Given the description of an element on the screen output the (x, y) to click on. 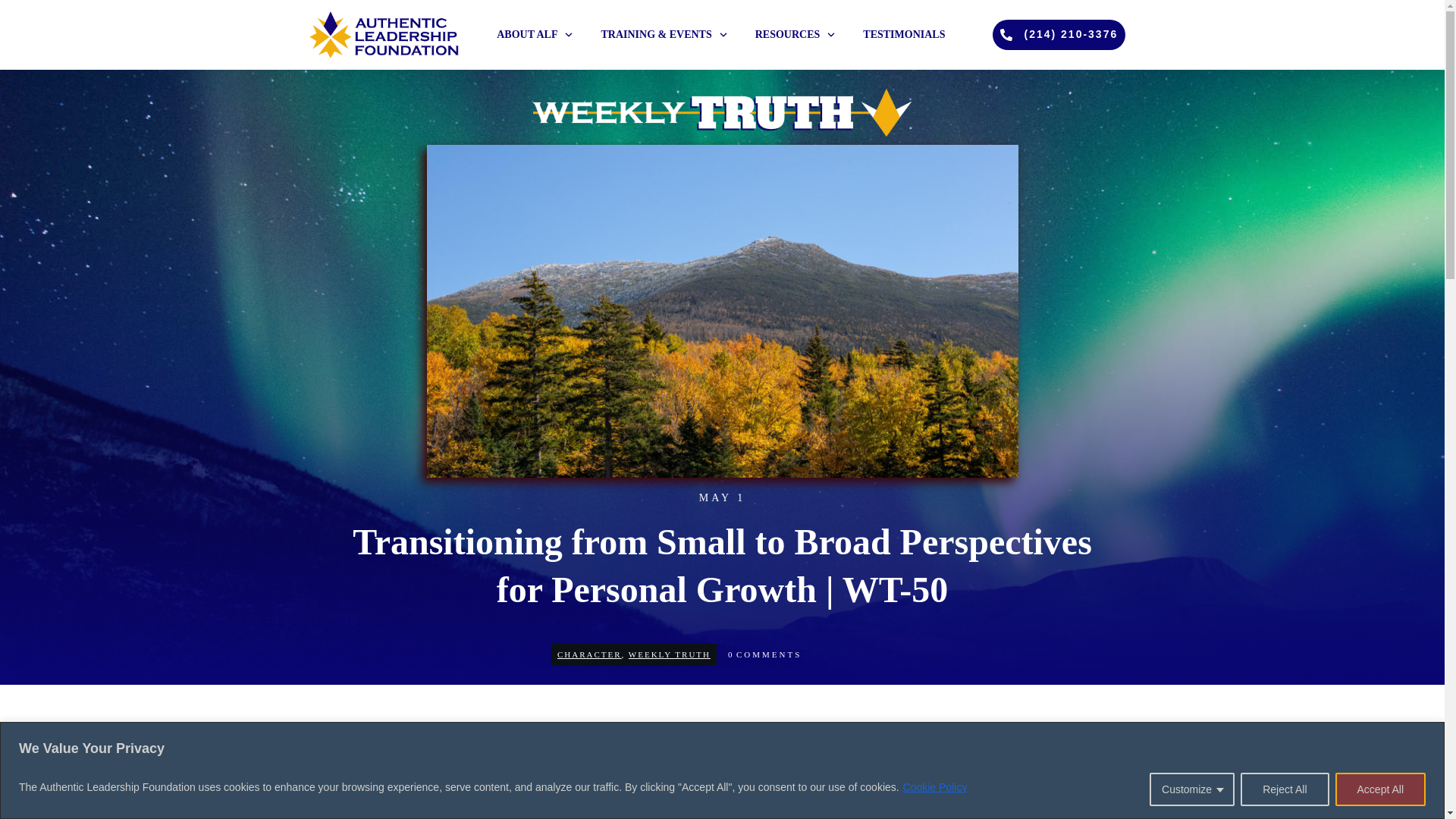
Cookie Policy (935, 786)
Character (589, 654)
Customize (1192, 788)
Weekly TRUTH (669, 654)
ABOUT ALF (534, 34)
Reject All (1283, 788)
CHARACTER (589, 654)
Accept All (1380, 788)
RESOURCES (796, 34)
TESTIMONIALS (903, 34)
